Given the description of an element on the screen output the (x, y) to click on. 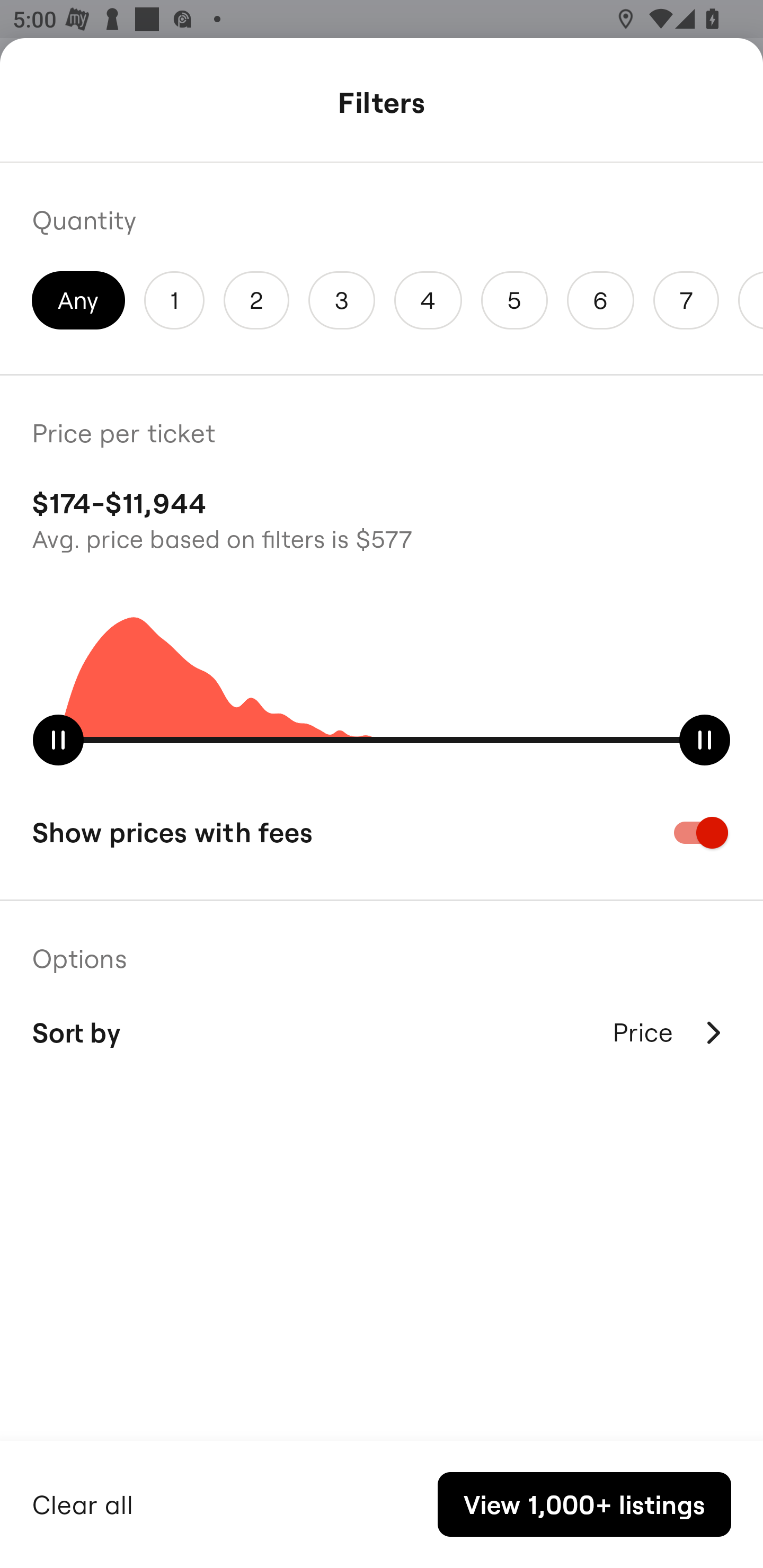
Any (78, 300)
1 (173, 300)
2 (256, 300)
3 (341, 300)
4 (427, 300)
5 (514, 300)
6 (601, 300)
7 (685, 300)
$174-$11,944 Avg. price based on filters is $577 (381, 518)
Show prices with fees (381, 832)
Sort by Price (381, 1032)
Clear all (83, 1502)
View 1,000+ listings (583, 1504)
